Given the description of an element on the screen output the (x, y) to click on. 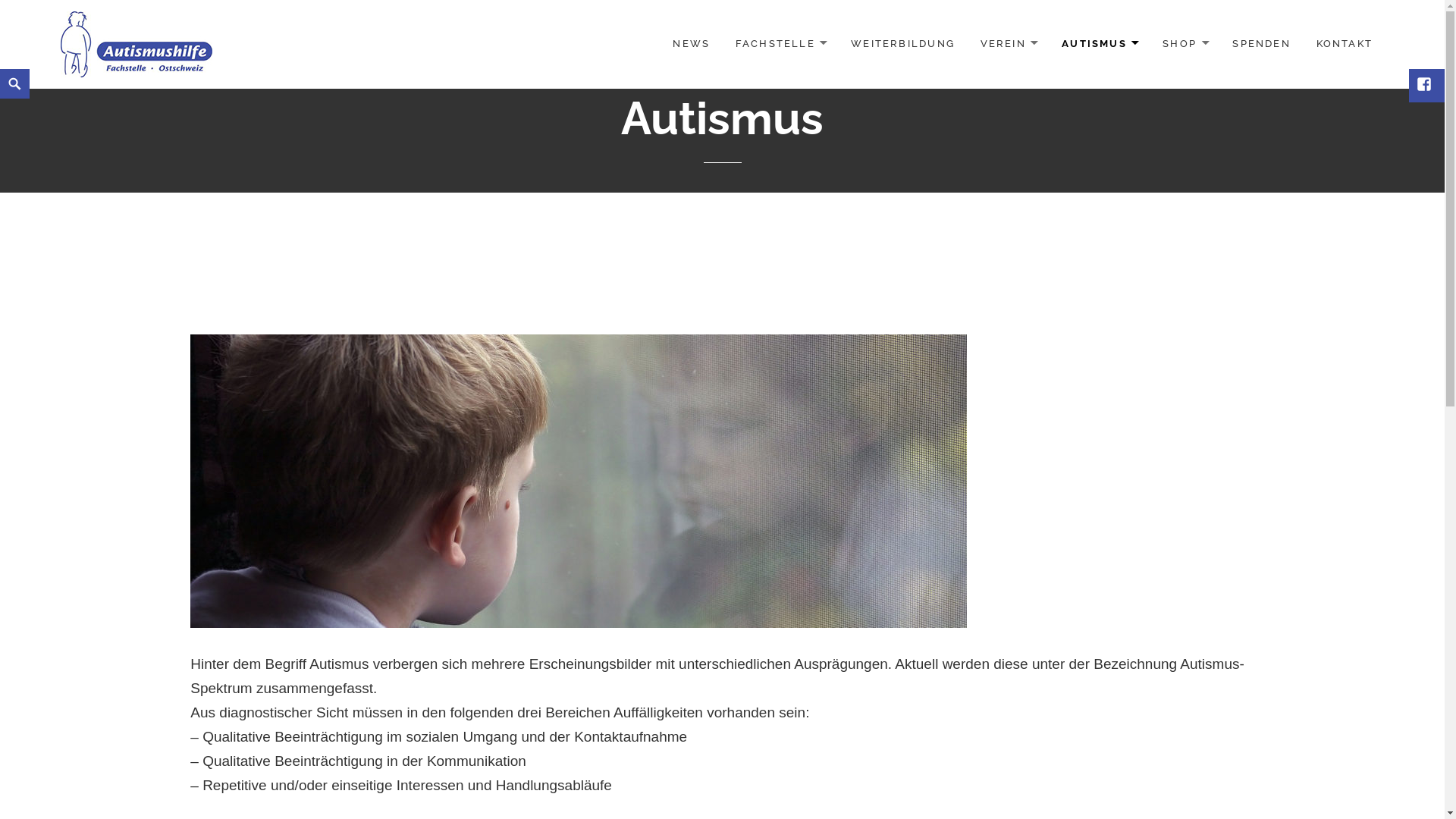
SPENDEN Element type: text (1260, 43)
Search Element type: text (3, 68)
WEITERBILDUNG Element type: text (902, 43)
VEREIN Element type: text (1008, 44)
NEWS Element type: text (691, 43)
Autismushife Ostschweiz Element type: hover (136, 43)
Facebook Element type: text (1425, 85)
AUTISMUS Element type: text (1099, 44)
KONTAKT Element type: text (1344, 43)
SHOP Element type: text (1184, 44)
FACHSTELLE Element type: text (780, 44)
